Given the description of an element on the screen output the (x, y) to click on. 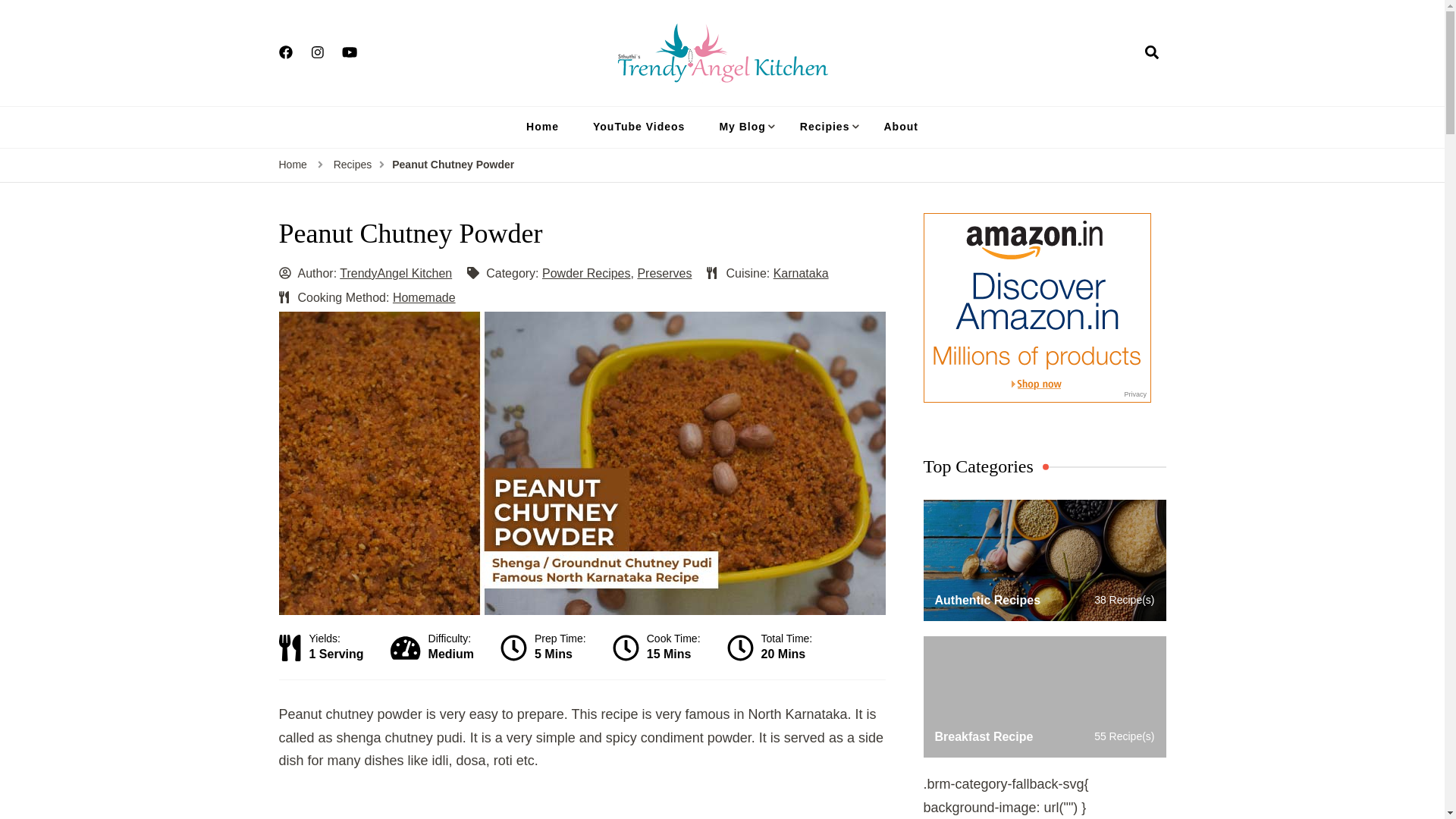
Recipes (352, 165)
About (900, 127)
YouTube Videos (639, 127)
Powder Recipes (585, 273)
Home (542, 127)
Karnataka (800, 273)
Recipies (824, 127)
My Blog (741, 127)
Home (293, 165)
Posts by TrendyAngel Kitchen (395, 273)
Peanut Chutney Powder (452, 165)
Trendy Angel Kitchen (823, 94)
Preserves (664, 273)
Homemade (424, 297)
TrendyAngel Kitchen (395, 273)
